Given the description of an element on the screen output the (x, y) to click on. 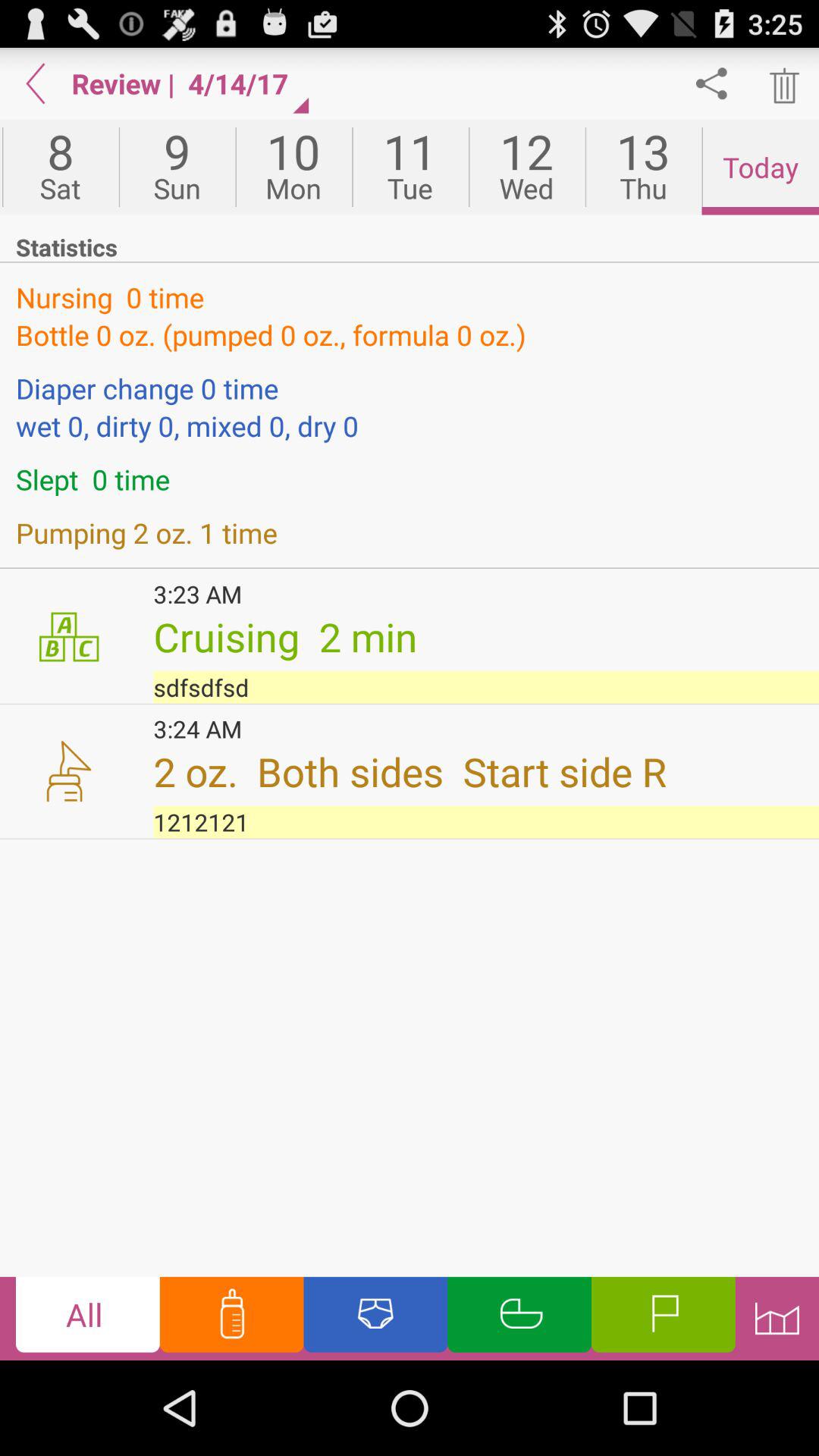
go back (35, 83)
